Given the description of an element on the screen output the (x, y) to click on. 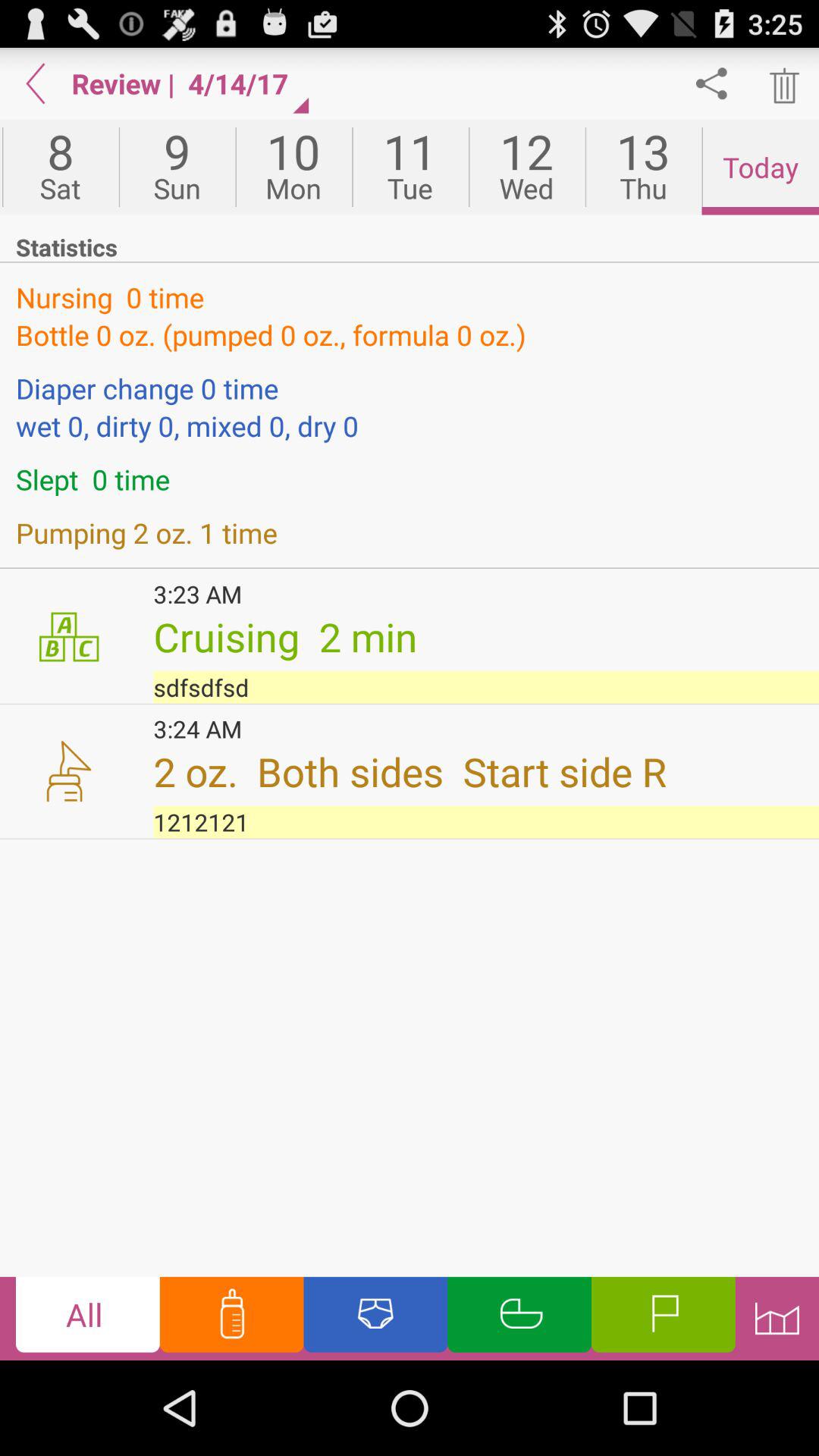
go back (35, 83)
